Given the description of an element on the screen output the (x, y) to click on. 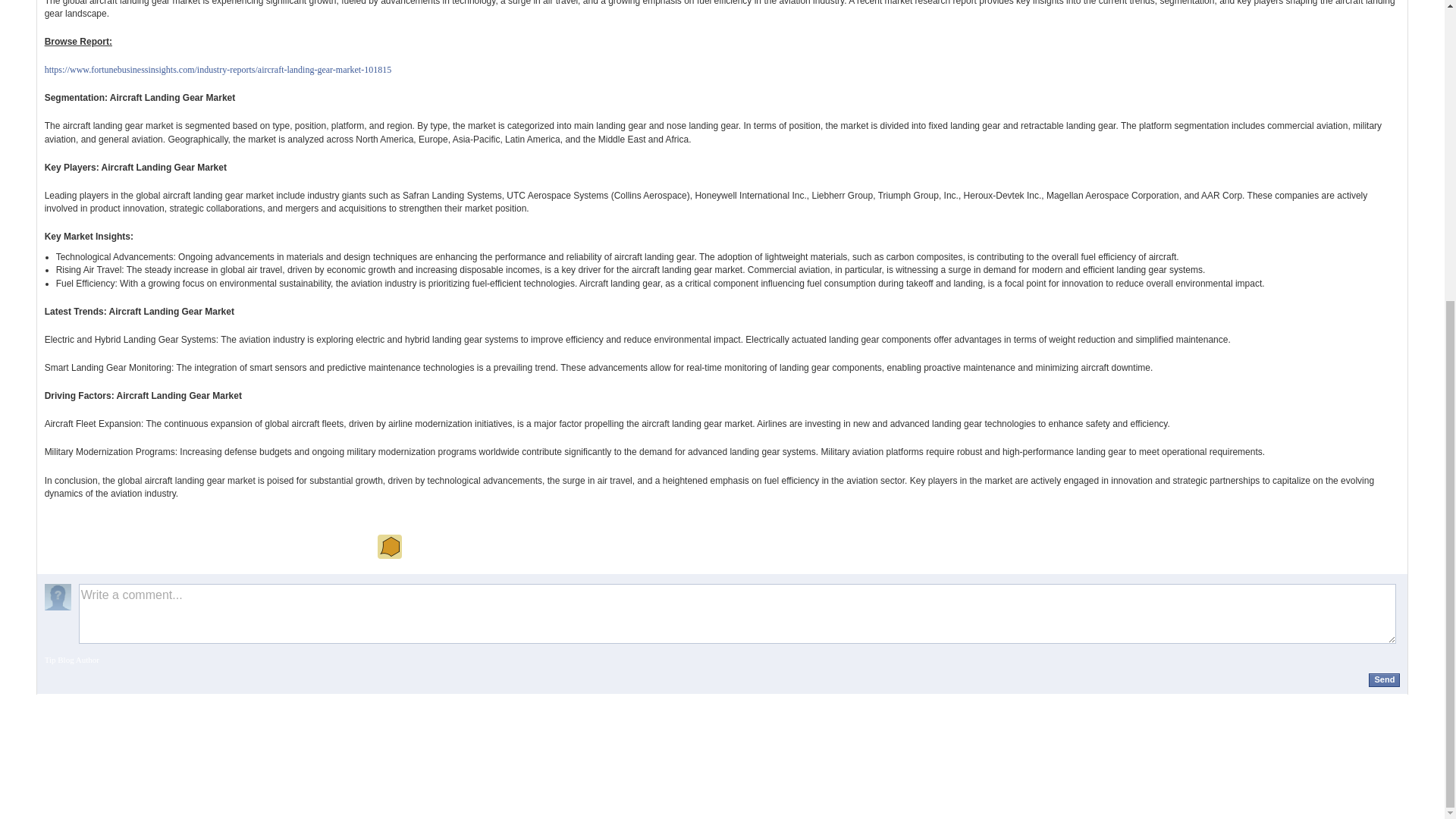
Developers (1144, 700)
Advertise (1089, 700)
About (853, 700)
Send (1383, 680)
Facebook (441, 700)
Twitter (487, 700)
Tip Blog Author (72, 659)
Mobile (1043, 700)
Privacy (895, 700)
Invite Friends (949, 700)
LinkedIn (533, 700)
Terms (1003, 700)
